Given the description of an element on the screen output the (x, y) to click on. 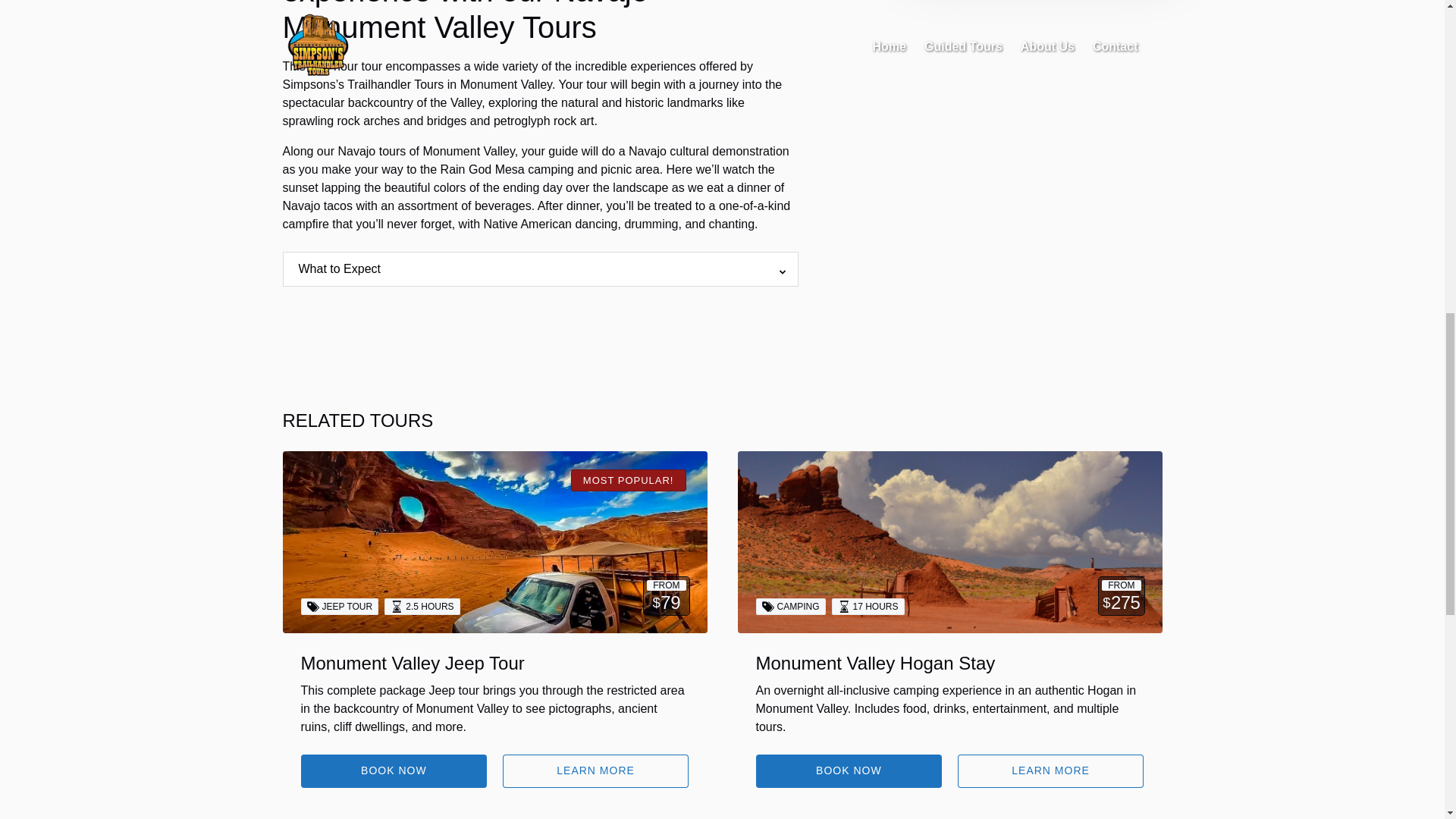
LEARN MORE (1051, 770)
BOOK NOW (848, 770)
activity link (948, 542)
Monument Valley Hogan Stay (874, 662)
What to Expect (339, 269)
FareHarbor (1342, 64)
Monument Valley Jeep Tour (411, 662)
BOOK NOW (392, 770)
LEARN MORE (595, 770)
activity link (494, 542)
